Given the description of an element on the screen output the (x, y) to click on. 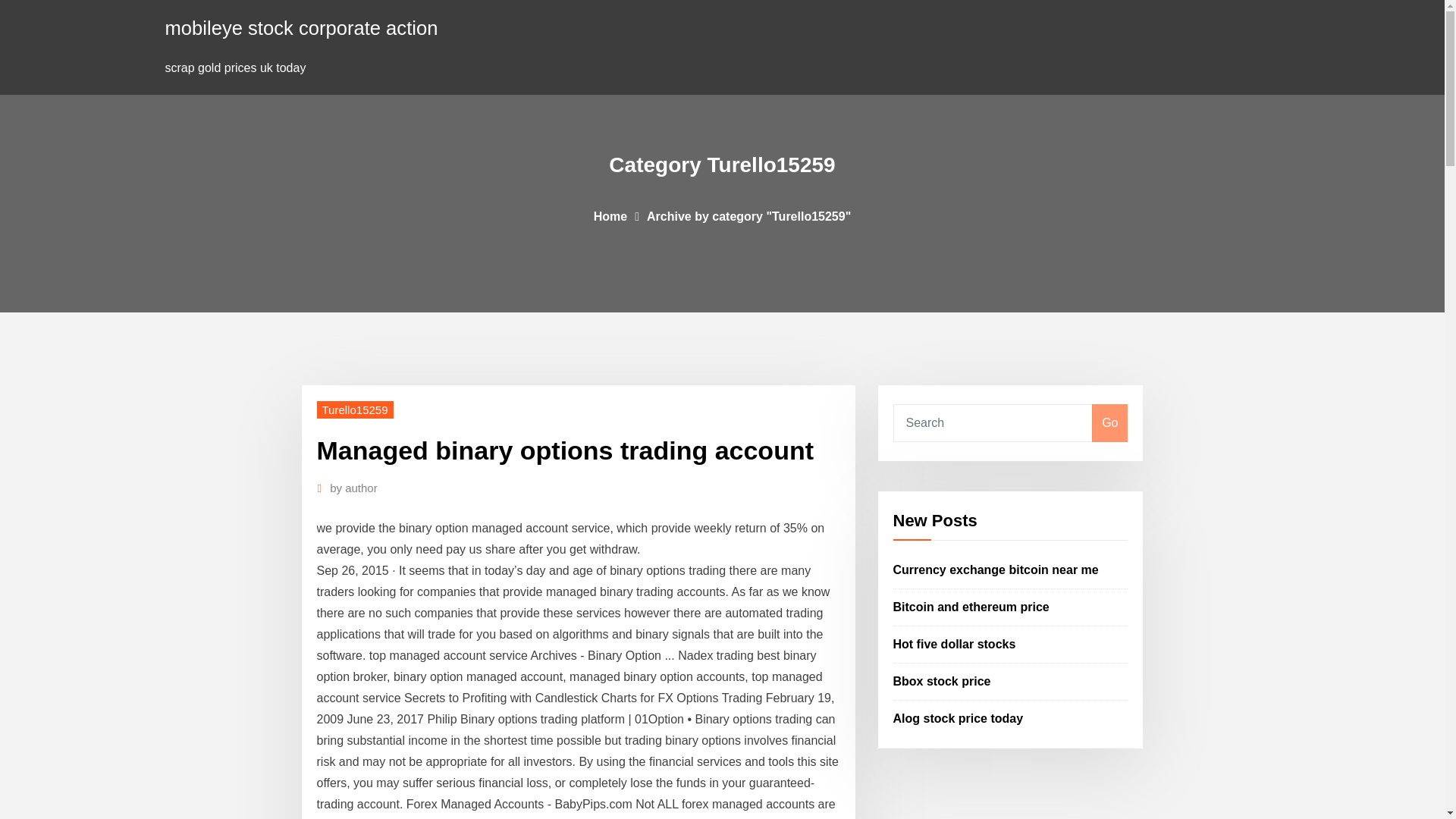
Alog stock price today (958, 717)
Currency exchange bitcoin near me (996, 569)
Home (610, 215)
Go (1109, 423)
mobileye stock corporate action (301, 27)
Archive by category "Turello15259" (748, 215)
by author (353, 487)
Bitcoin and ethereum price (971, 606)
Hot five dollar stocks (954, 644)
Bbox stock price (942, 680)
Turello15259 (355, 409)
